Given the description of an element on the screen output the (x, y) to click on. 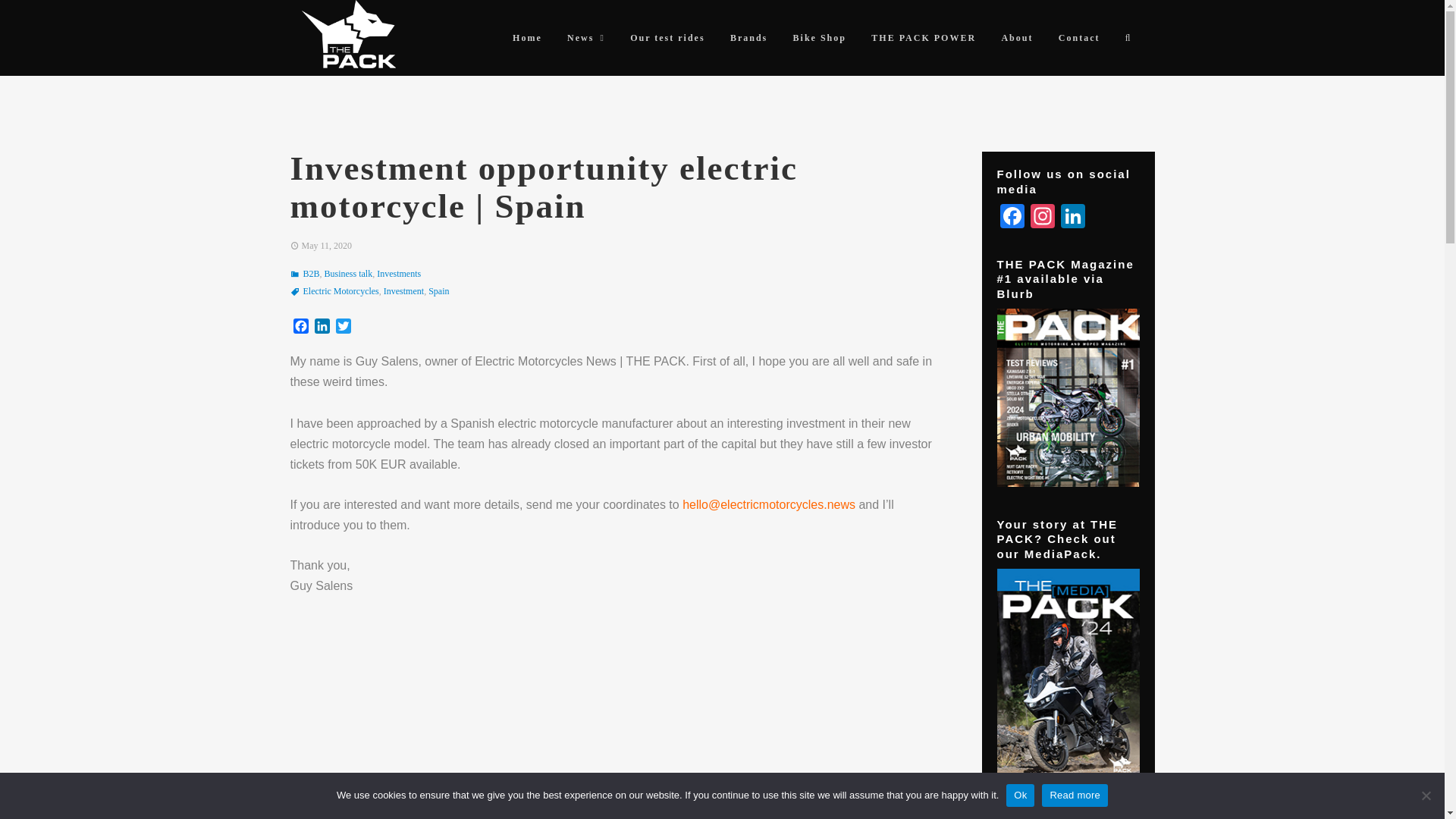
Bike Shop (819, 38)
Facebook (1010, 217)
THE PACK POWER (923, 38)
Twitter (342, 327)
Facebook (300, 327)
Our test rides (667, 38)
LinkedIn (1072, 217)
LinkedIn (321, 327)
Instagram (1041, 217)
Investment electric motorcycle (617, 717)
